Given the description of an element on the screen output the (x, y) to click on. 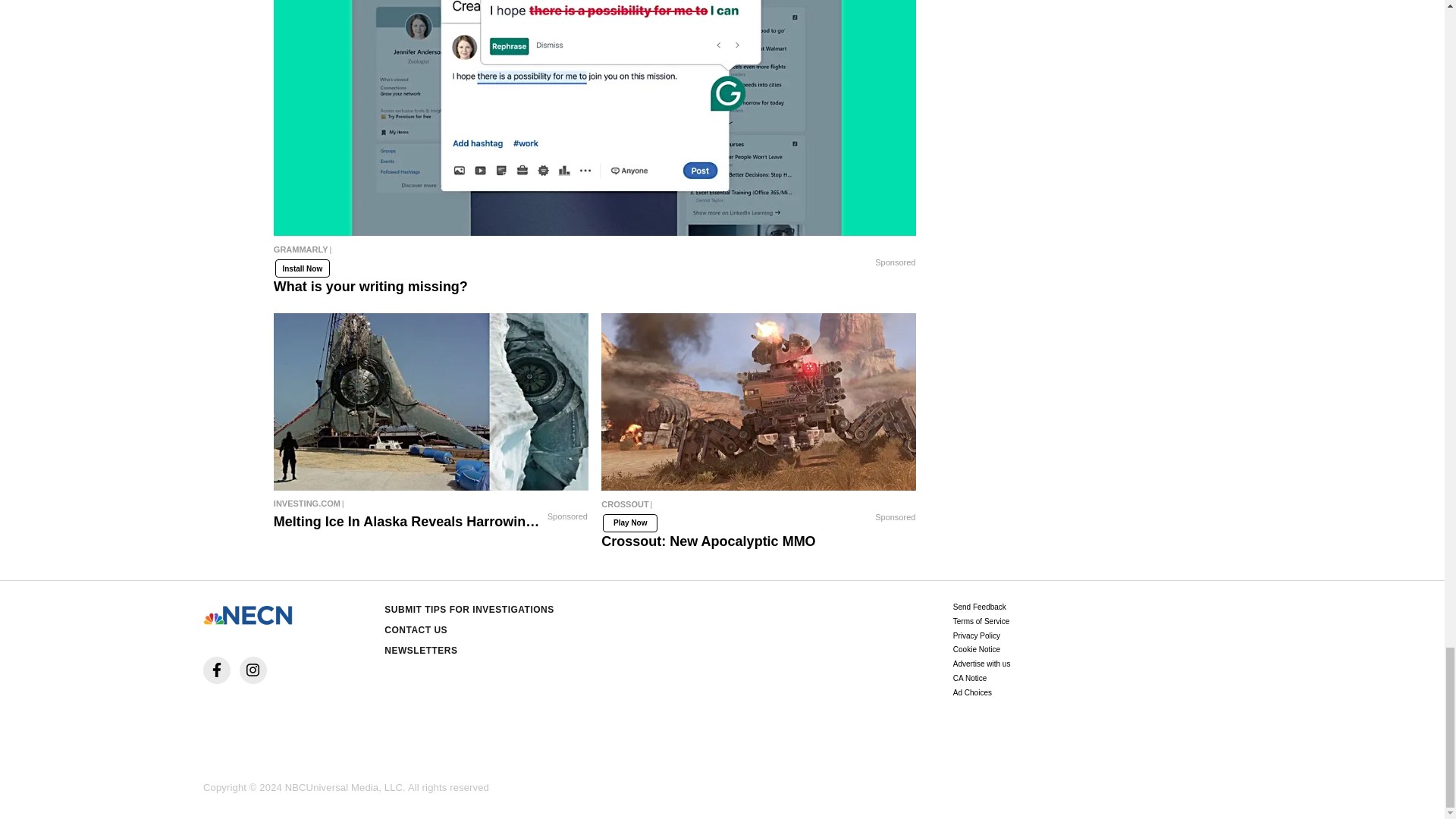
What is your writing missing? (595, 252)
Melting Ice In Alaska Reveals Harrowing Discovery (430, 401)
Melting Ice In Alaska Reveals Harrowing Discovery (430, 503)
